Given the description of an element on the screen output the (x, y) to click on. 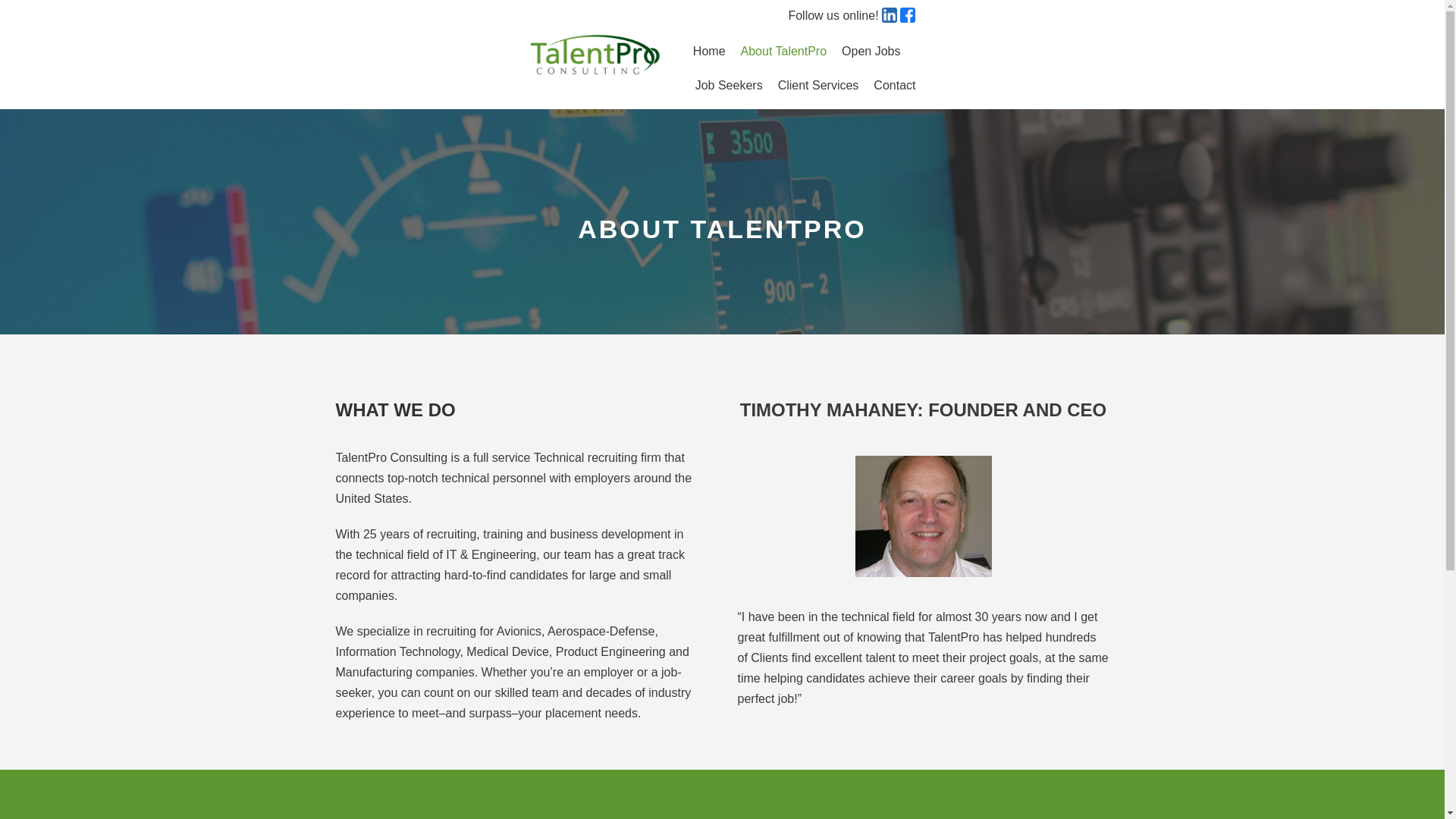
Home (709, 51)
TalentPro Consulting - Recruiting (595, 54)
Contact (894, 85)
About TalentPro (784, 51)
Open Jobs (870, 51)
Job Seekers (728, 85)
Client Services (818, 85)
Skip to content (15, 7)
